Given the description of an element on the screen output the (x, y) to click on. 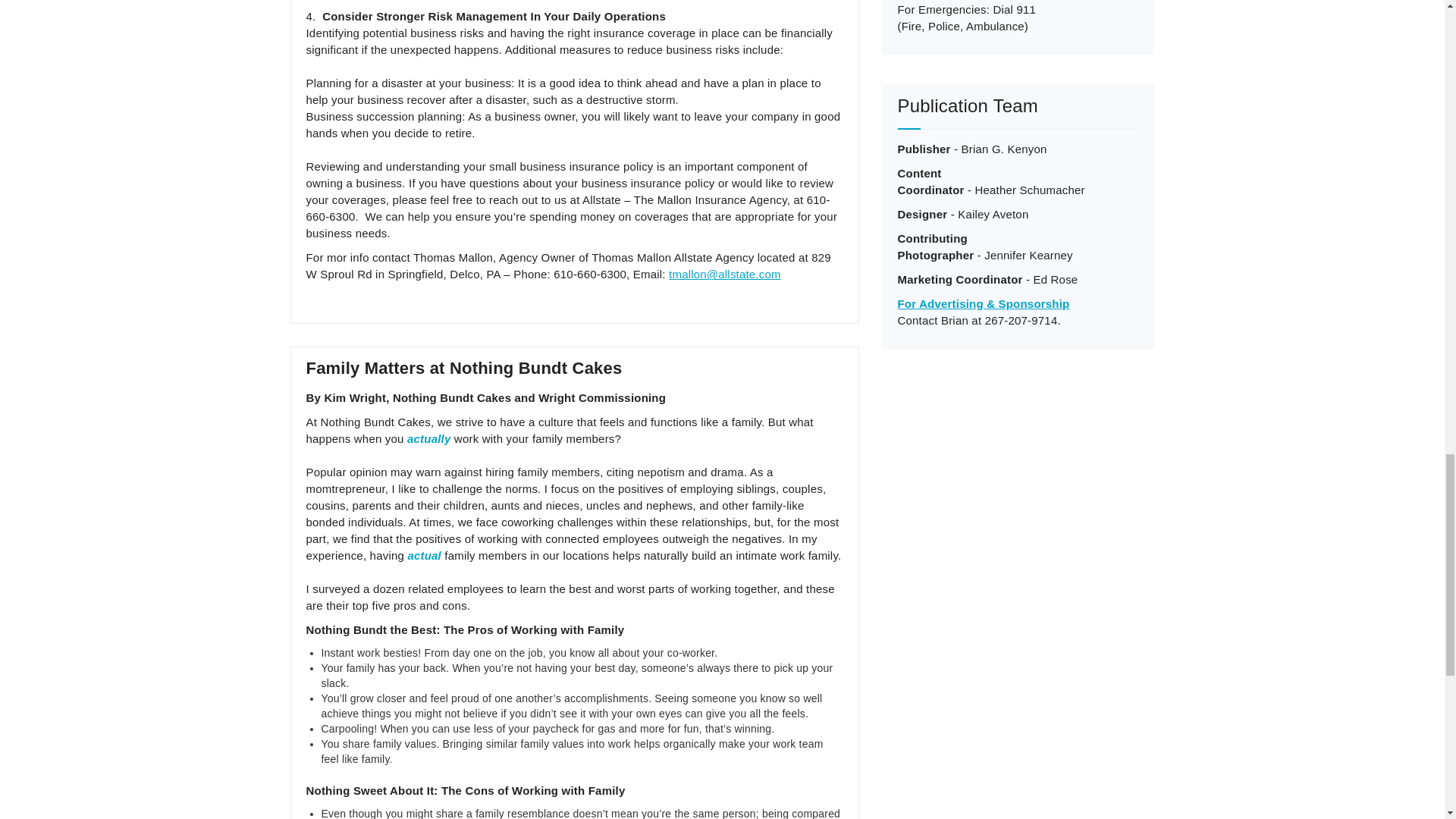
Family Matters at Nothing Bundt Cakes (464, 367)
